Given the description of an element on the screen output the (x, y) to click on. 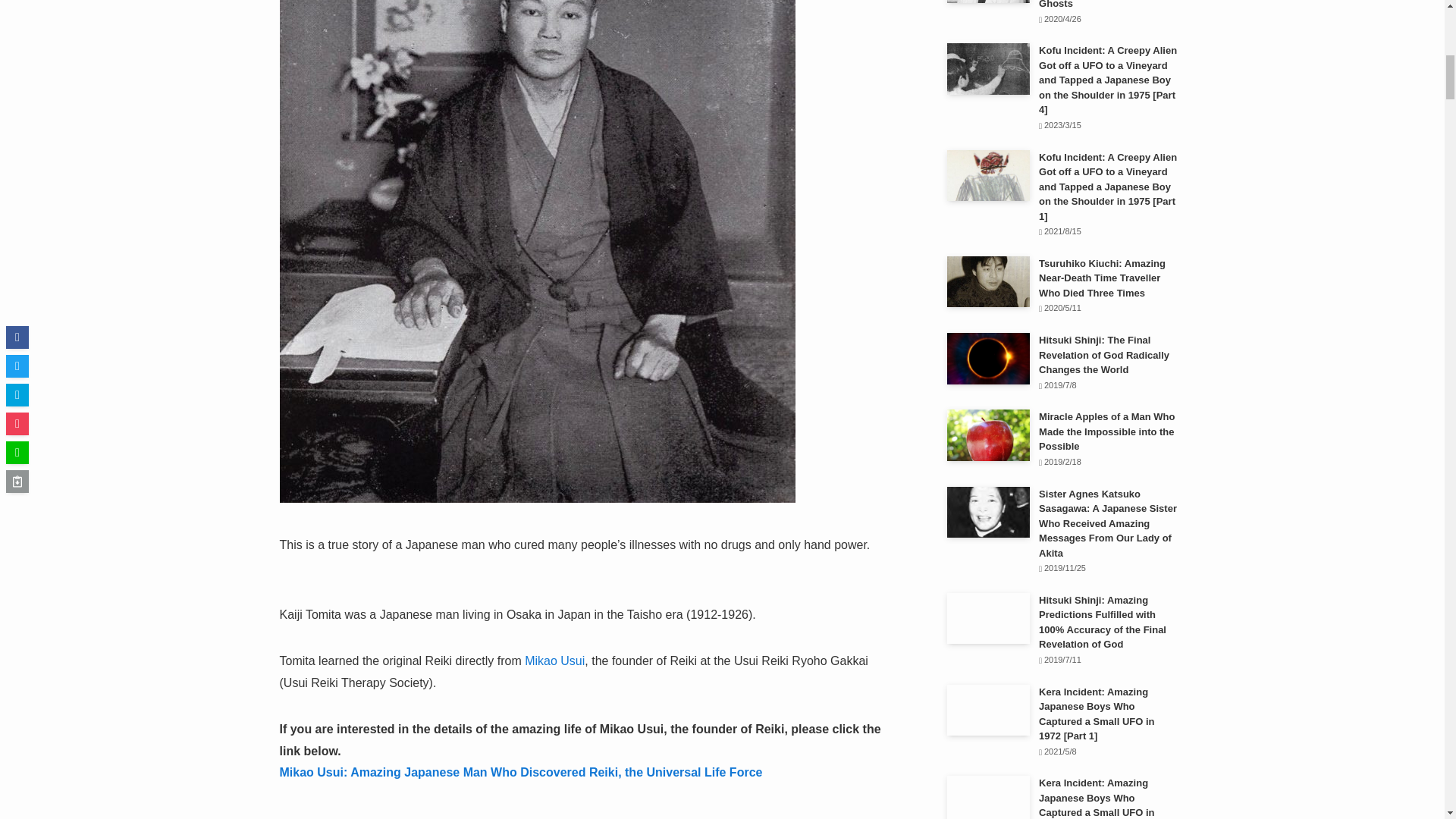
Mikao Usui (554, 660)
